Given the description of an element on the screen output the (x, y) to click on. 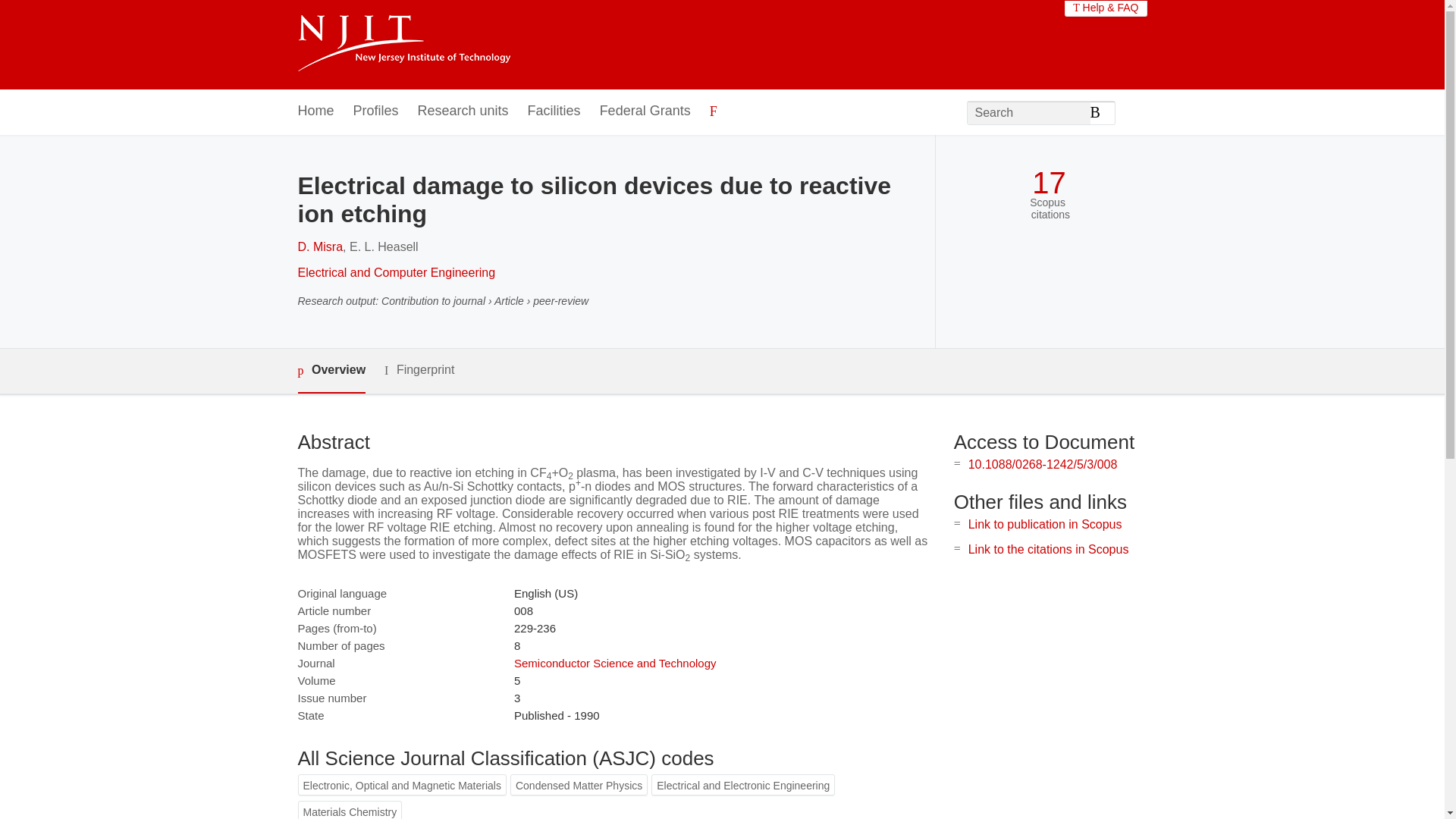
Profiles (375, 111)
Overview (331, 370)
Fingerprint (419, 370)
Research units (462, 111)
Semiconductor Science and Technology (614, 662)
New Jersey Institute of Technology Home (403, 44)
Federal Grants (644, 111)
Link to the citations in Scopus (1048, 549)
17 (1048, 182)
